Given the description of an element on the screen output the (x, y) to click on. 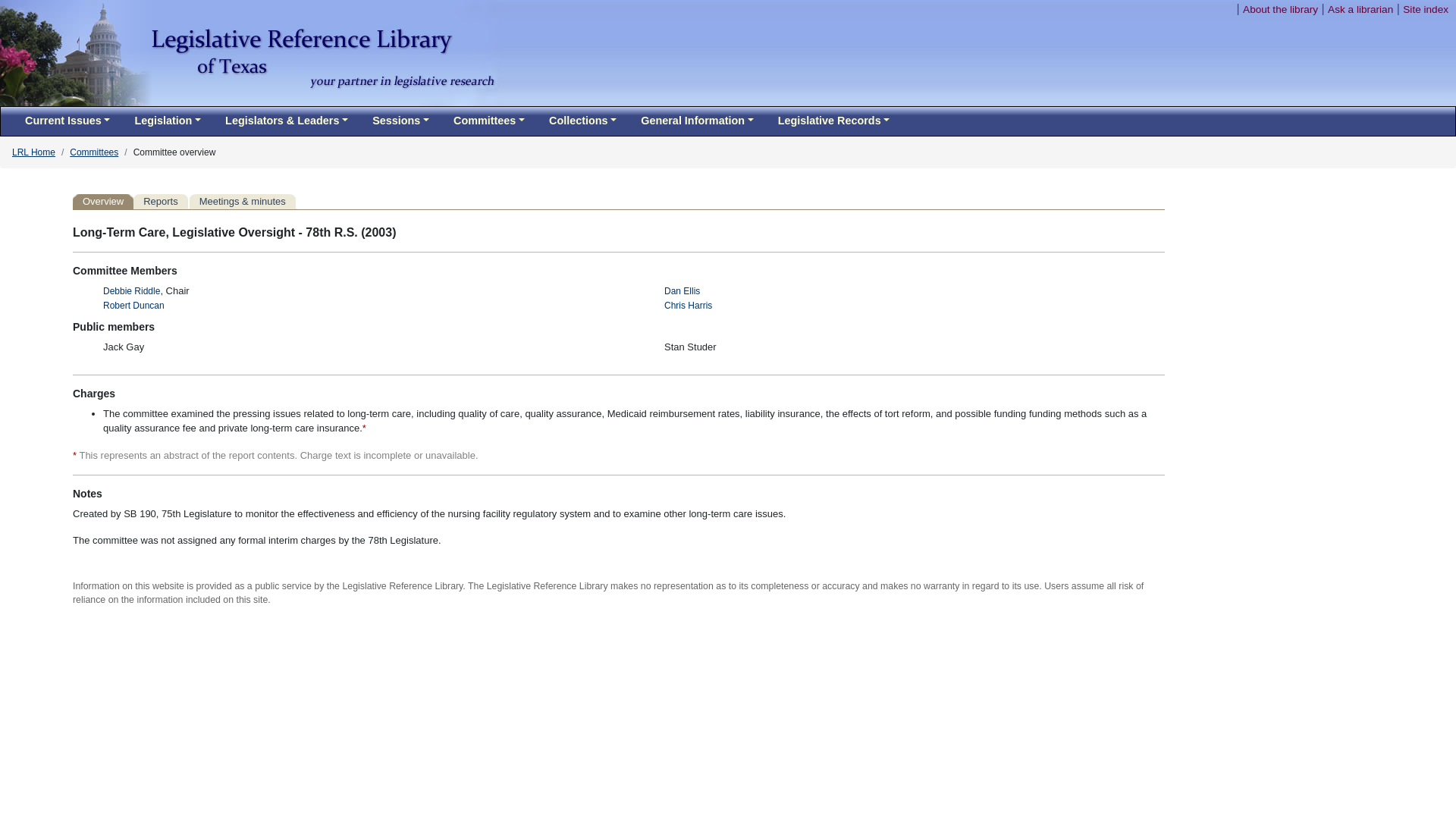
Site index (1425, 9)
Legislation (167, 121)
Current Issues (67, 121)
Ask a librarian (1360, 9)
Skip to main content (1177, 8)
About the library (1280, 9)
